Given the description of an element on the screen output the (x, y) to click on. 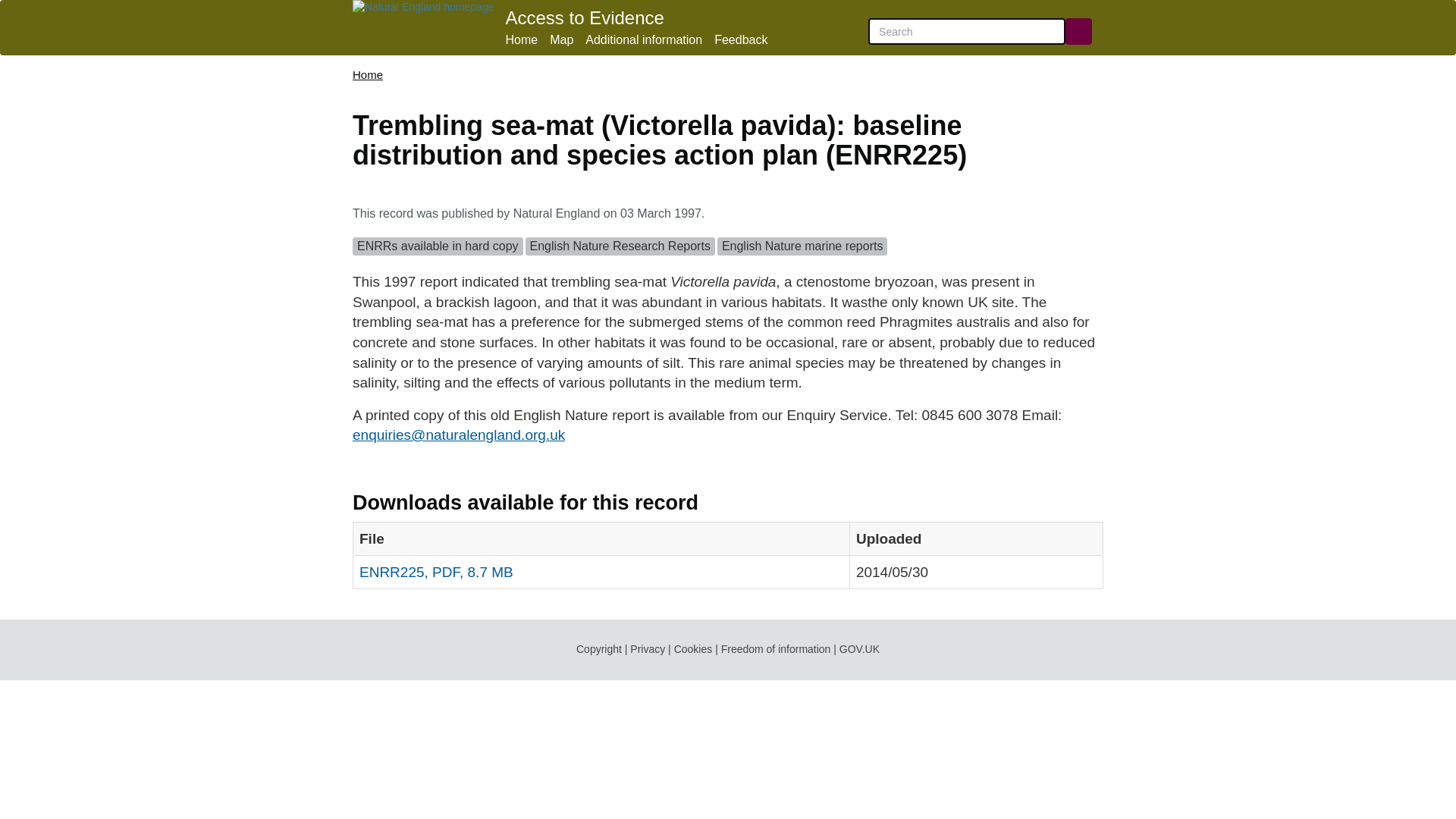
Additional information (643, 39)
Home (521, 39)
Record categories (727, 248)
Copyright (598, 648)
Feedback (740, 39)
Skip to main content (11, 7)
Map (561, 39)
Go to the Natural England homepage. (422, 7)
Cookies (693, 648)
Access to Evidence (584, 18)
ENRR225, PDF, 8.7 MB (436, 571)
Freedom of information (775, 648)
English Nature Research Reports (619, 246)
Site-wide search (966, 31)
English Nature marine reports (802, 246)
